Given the description of an element on the screen output the (x, y) to click on. 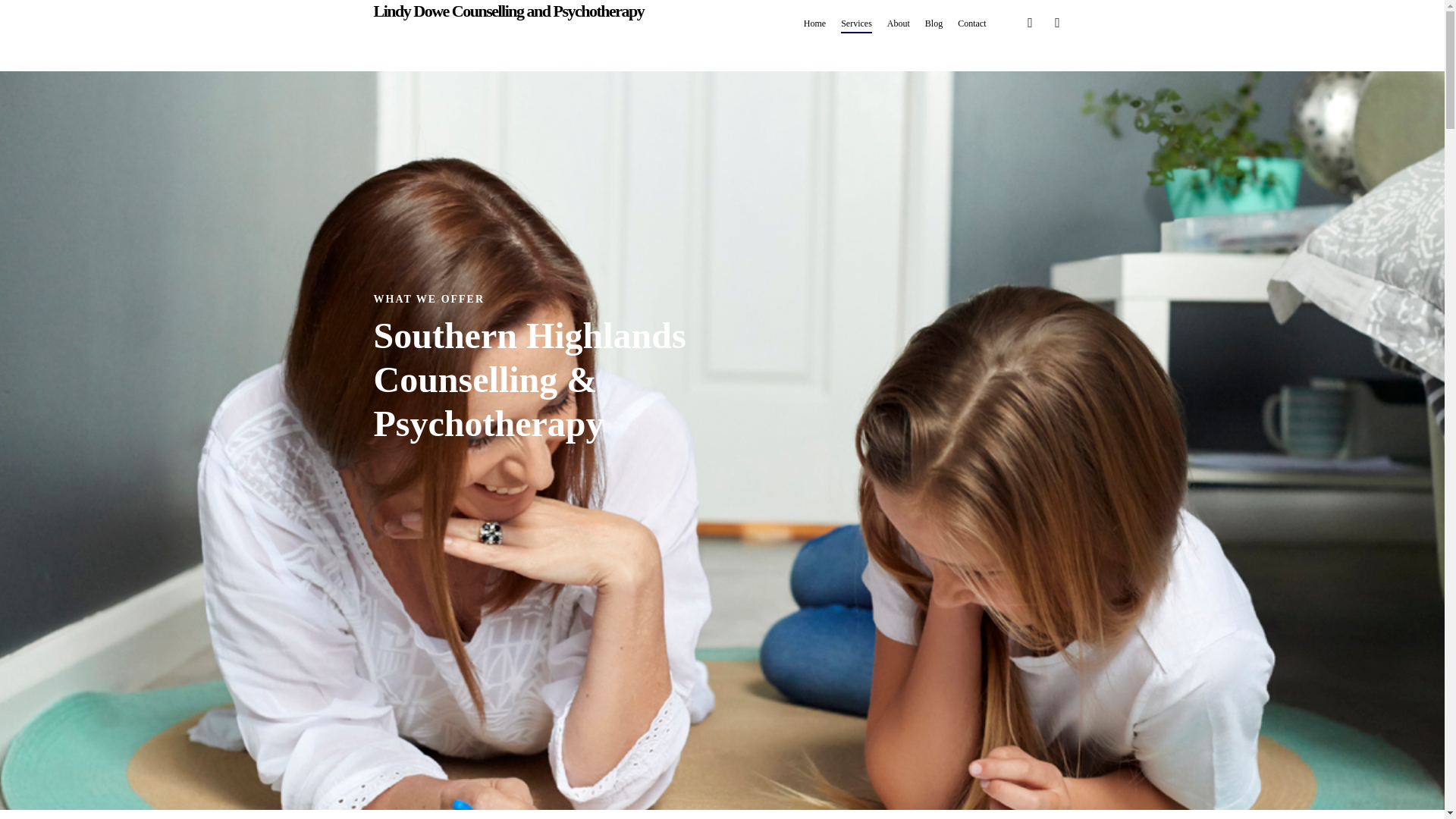
About (898, 23)
PRIVACY POLICY (837, 756)
Home (814, 23)
Contact (971, 23)
Services (856, 23)
Blog (933, 23)
Lindy Dowe Counselling and Psychotherapy (507, 11)
